Given the description of an element on the screen output the (x, y) to click on. 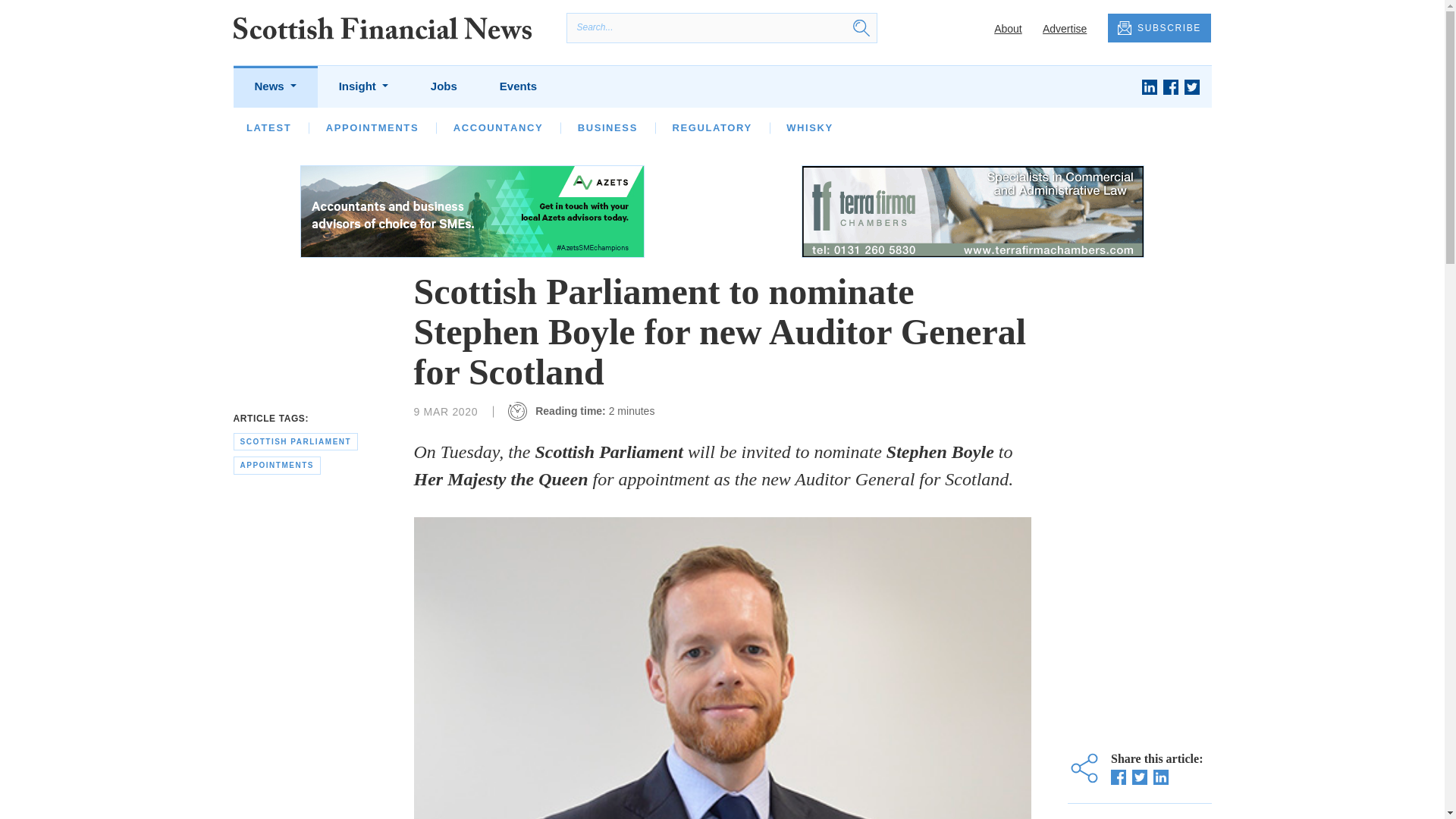
Advertise (1064, 28)
LATEST (268, 127)
REGULATORY (711, 127)
News (274, 86)
INTERVIEWS (446, 127)
OPINION (350, 127)
SUBSCRIBE (1158, 28)
ACCOUNTANCY (497, 127)
WHISKY (809, 127)
Events (518, 86)
